Given the description of an element on the screen output the (x, y) to click on. 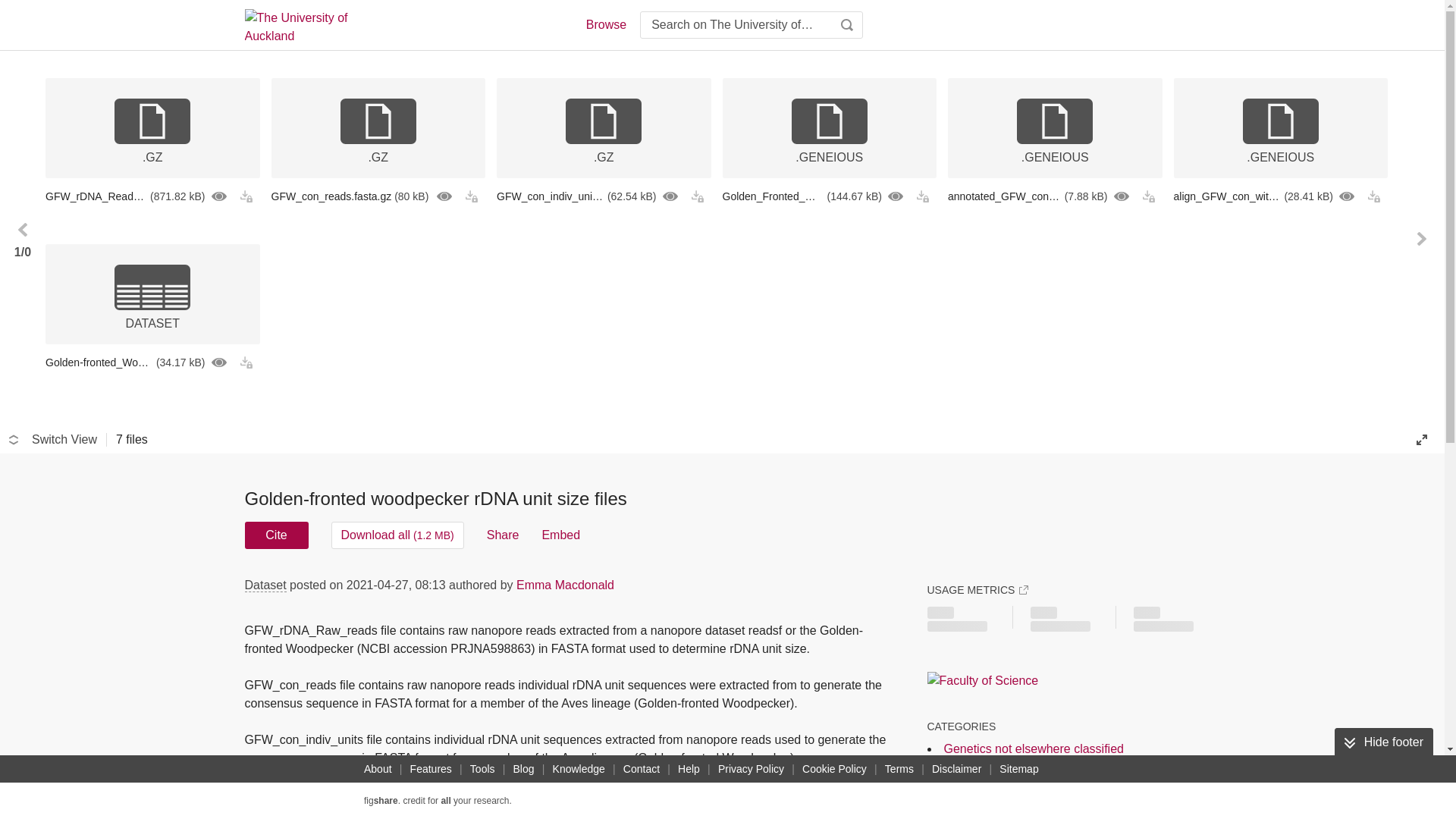
Cite (275, 534)
Genetics not elsewhere classified (1032, 748)
Browse (605, 24)
Embed (560, 534)
Emma Macdonald (565, 584)
Share (502, 534)
USAGE METRICS (976, 589)
Switch View (52, 439)
